Given the description of an element on the screen output the (x, y) to click on. 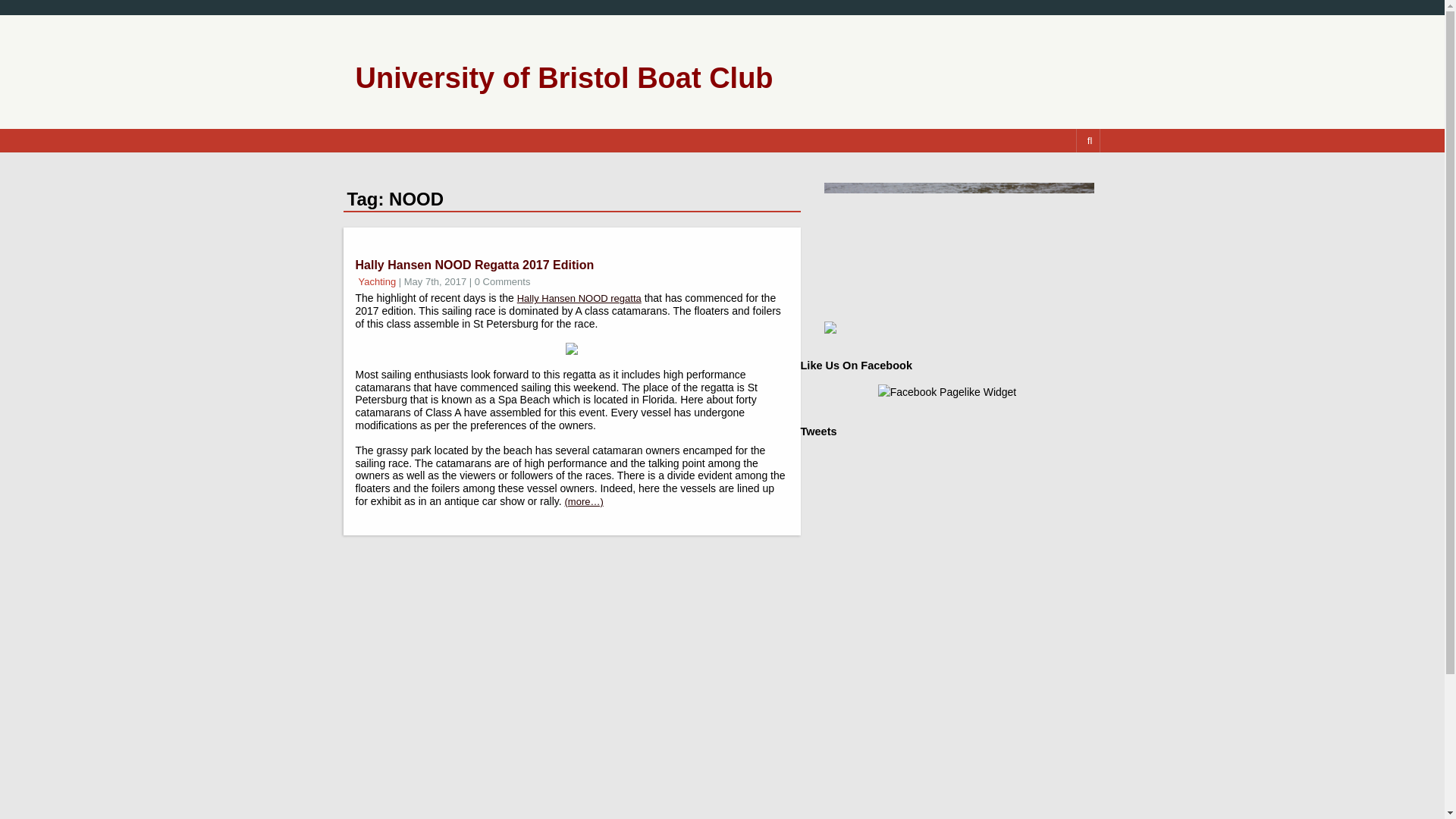
Hally Hansen NOOD Regatta 2017 Edition (474, 264)
Hally Hansen NOOD Regatta 2017 Edition (474, 264)
Hally Hansen NOOD regatta (579, 297)
University of Bristol Boat Club (564, 78)
Yachting (377, 281)
